Given the description of an element on the screen output the (x, y) to click on. 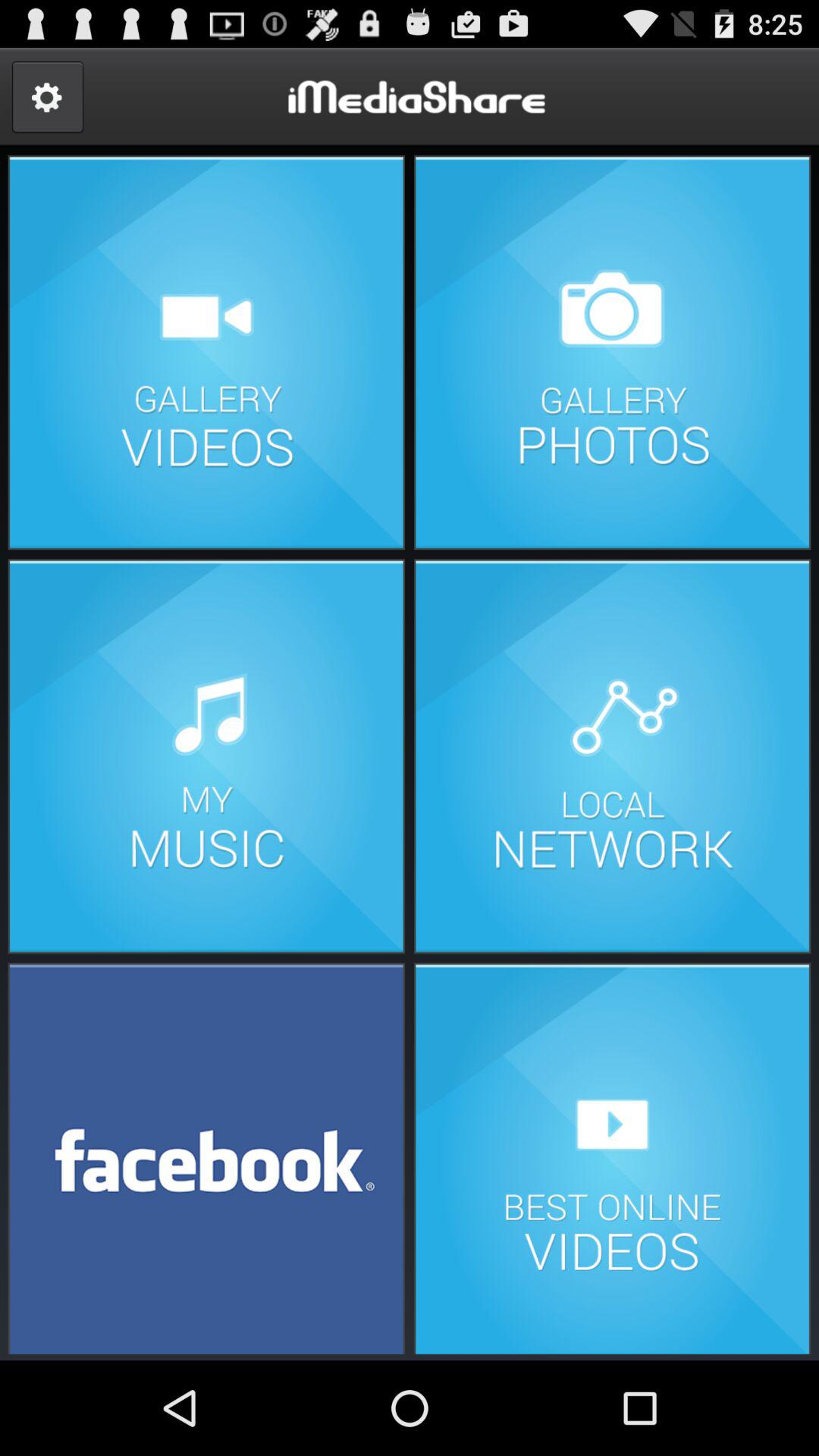
select gallery videos (206, 352)
